Given the description of an element on the screen output the (x, y) to click on. 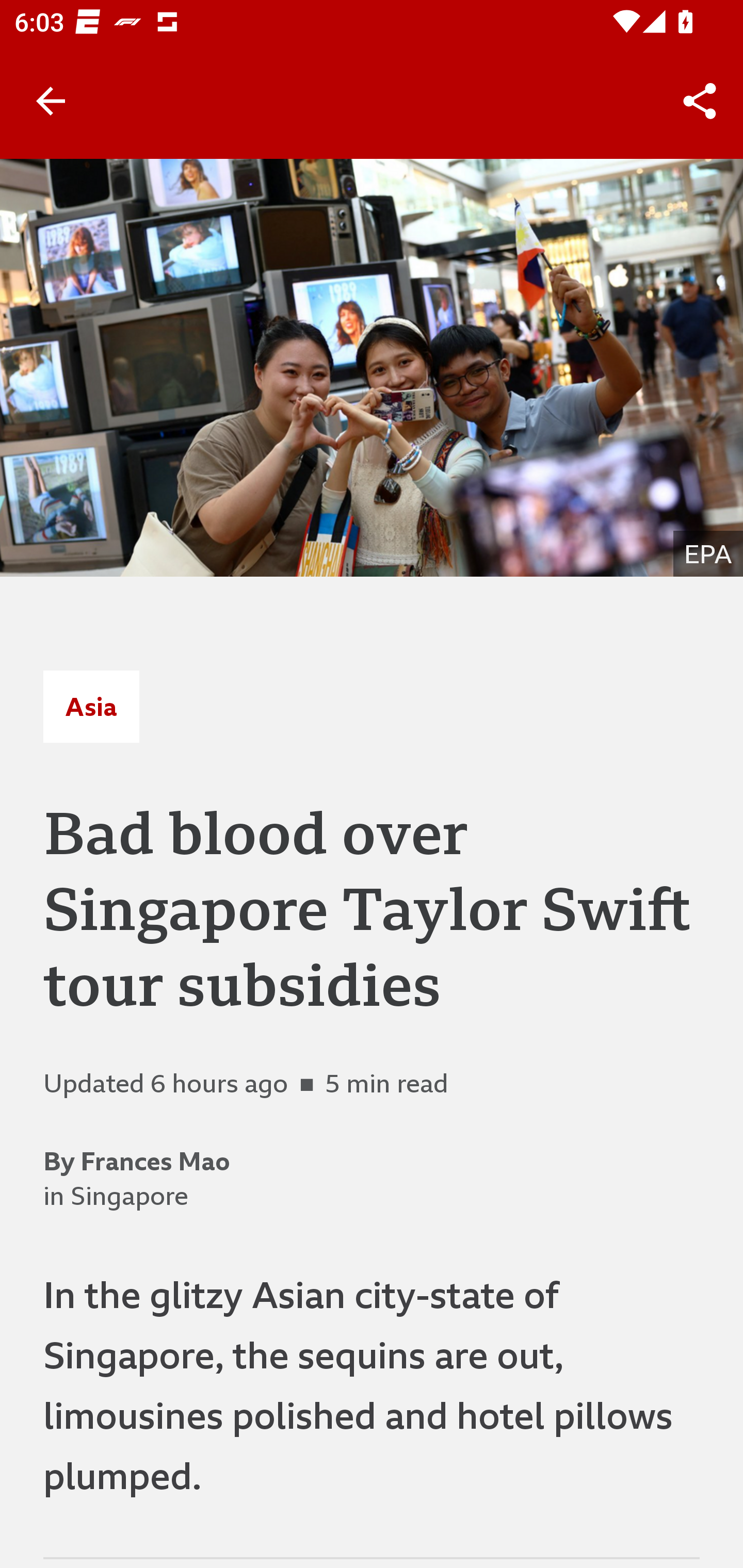
Back (50, 101)
Share (699, 101)
Asia (91, 706)
